Given the description of an element on the screen output the (x, y) to click on. 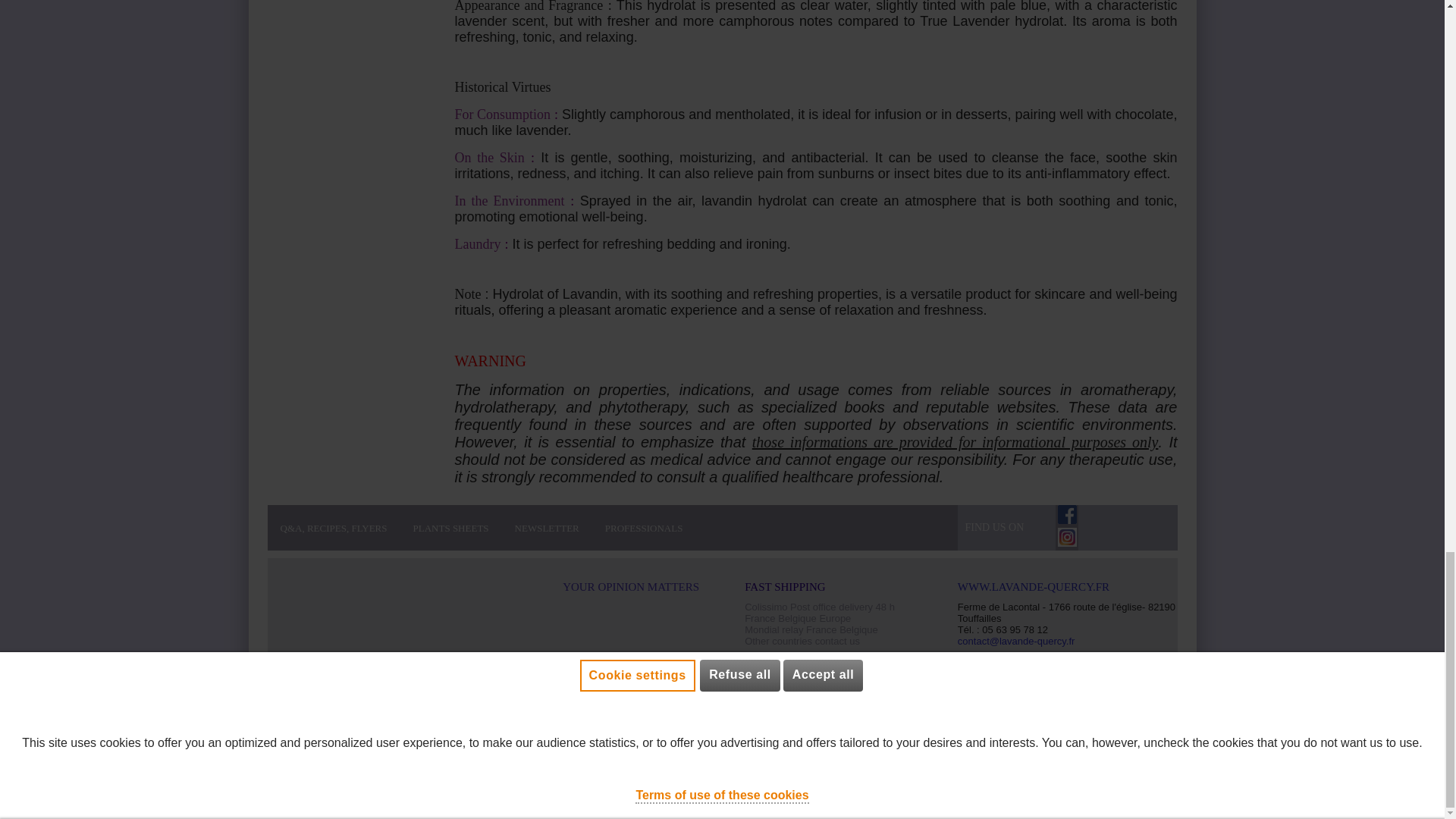
Shop Application (374, 770)
